Given the description of an element on the screen output the (x, y) to click on. 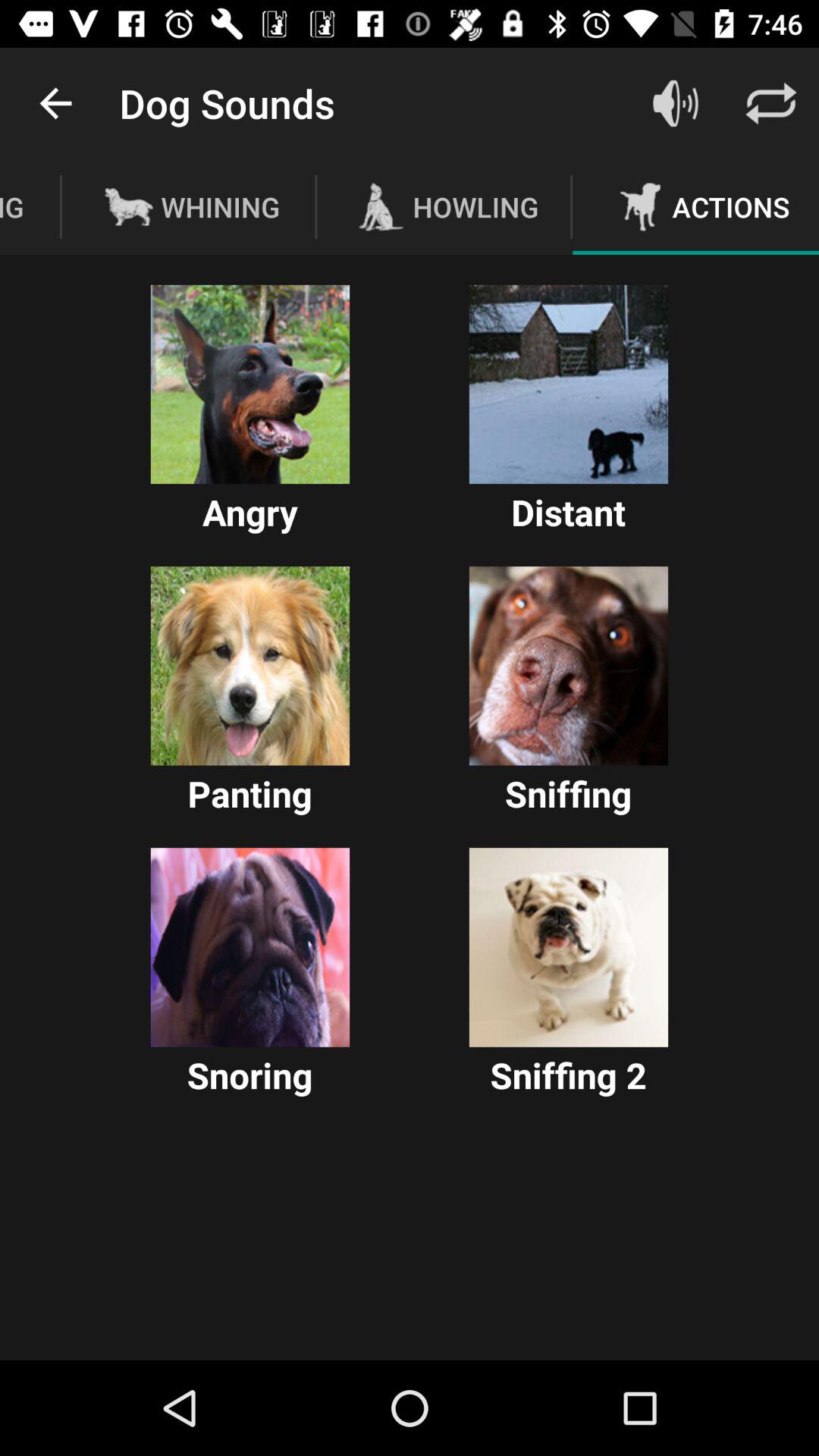
hear dog sound (568, 665)
